Given the description of an element on the screen output the (x, y) to click on. 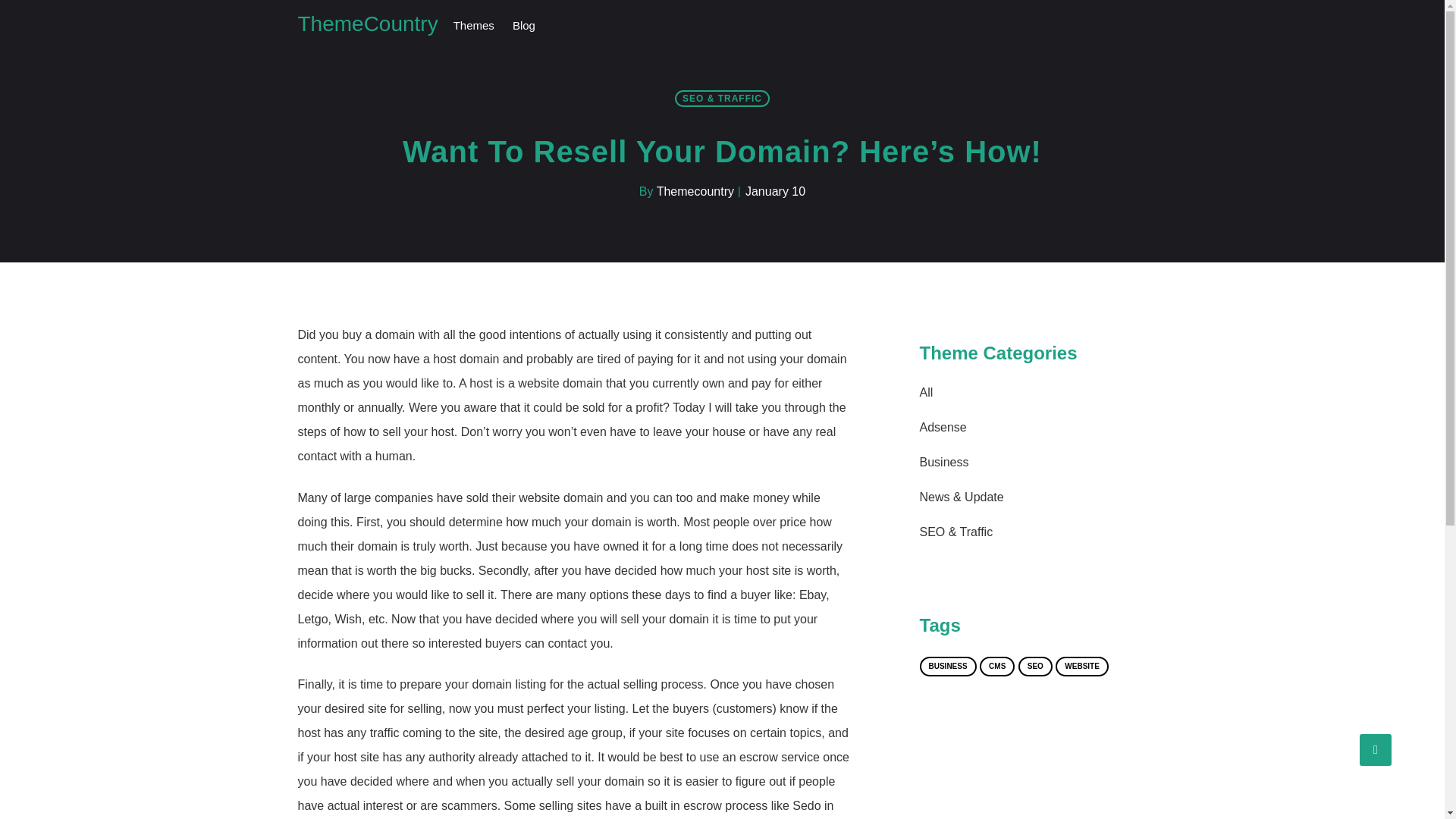
Business (943, 461)
WEBSITE (1081, 666)
January 10 (775, 191)
CMS (996, 666)
All (925, 391)
Blog (523, 25)
BUSINESS (946, 666)
ThemeCountry (367, 24)
Adsense (942, 427)
